Given the description of an element on the screen output the (x, y) to click on. 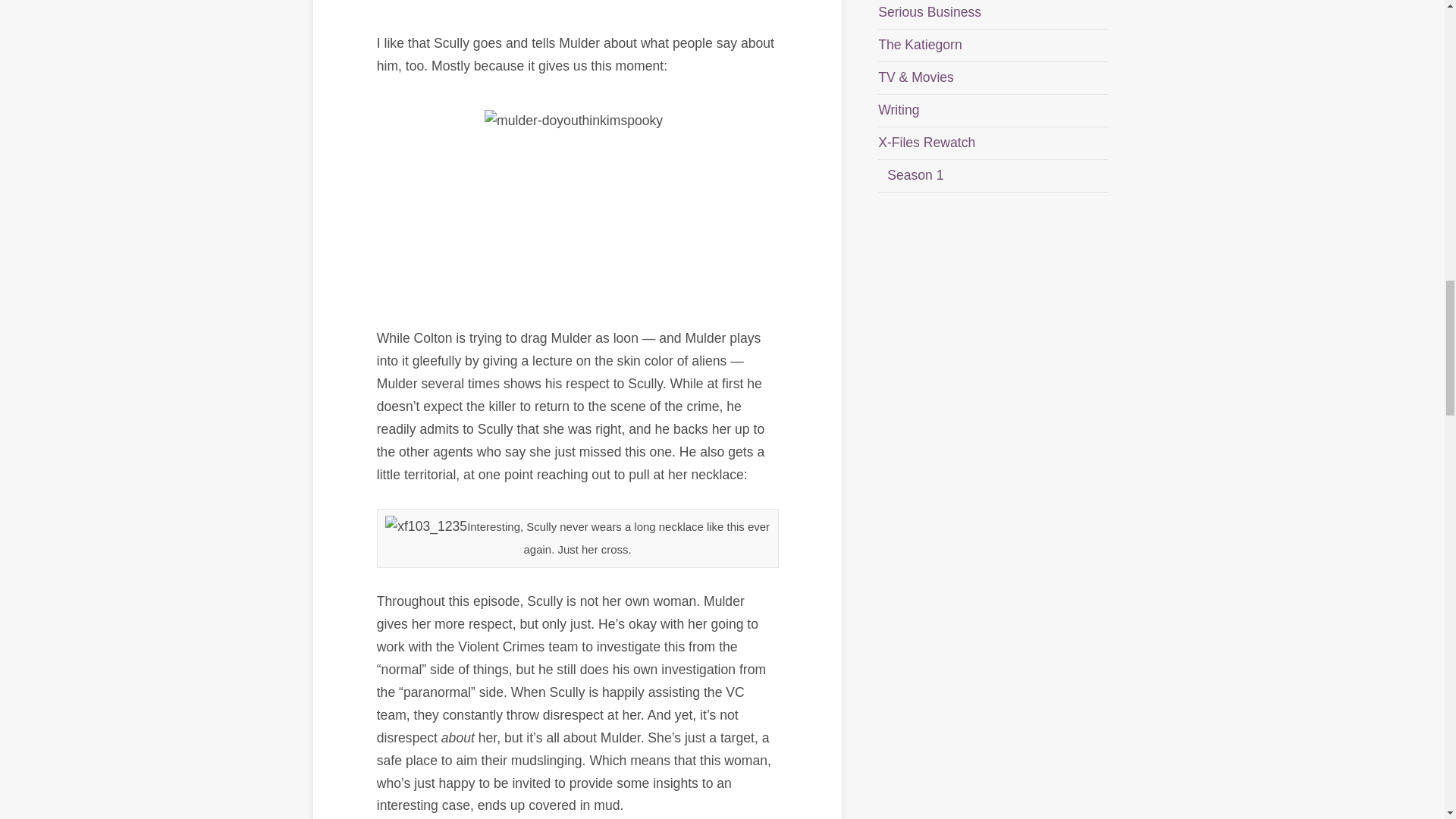
Writing (897, 109)
Season 1 (914, 174)
The Katiegorn (919, 44)
Serious Business (929, 11)
X-Files Rewatch (926, 142)
